Given the description of an element on the screen output the (x, y) to click on. 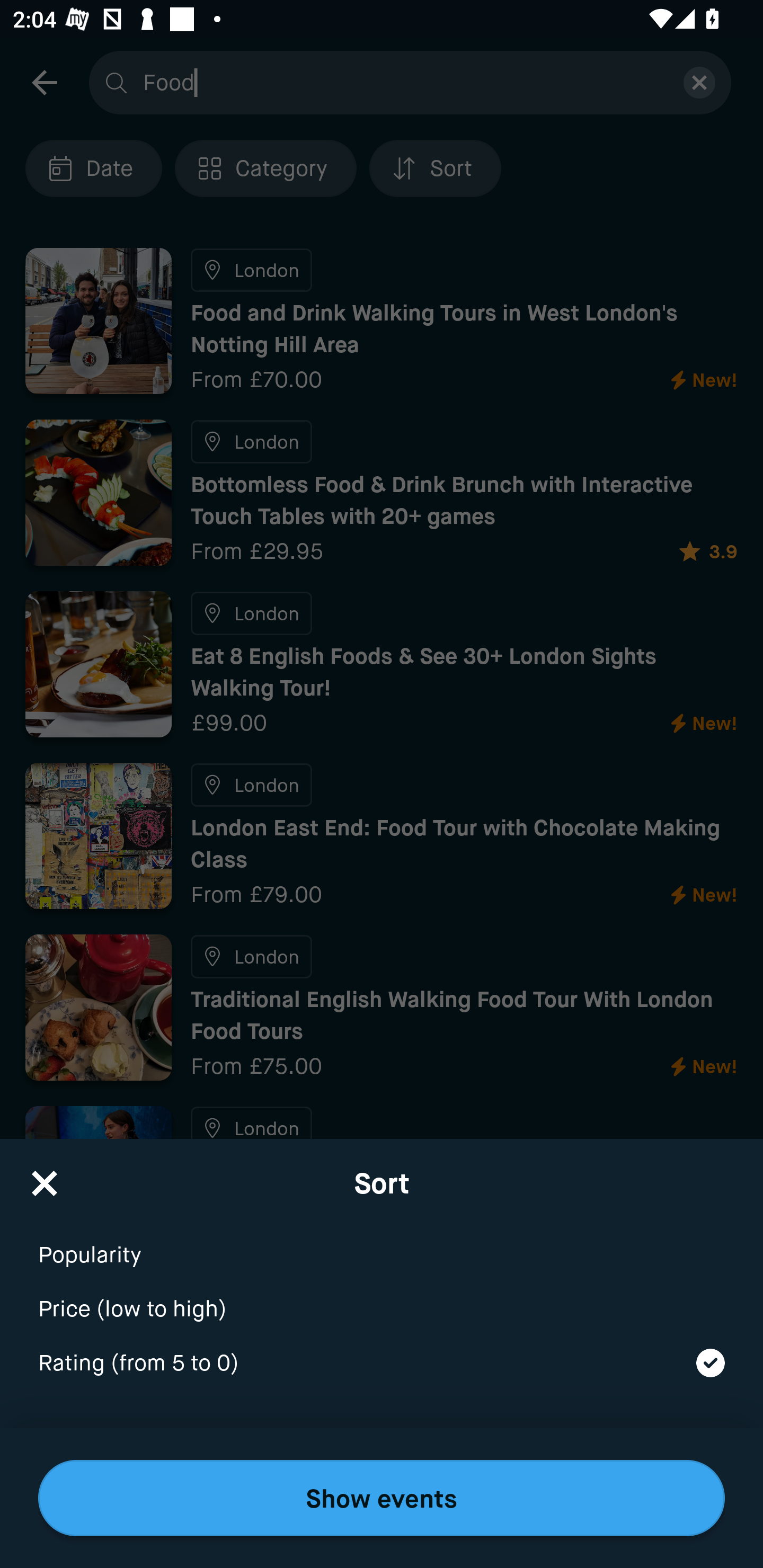
CloseButton (44, 1177)
Popularity (381, 1243)
Price (low to high) (381, 1297)
Rating (from 5 to 0) Selected Icon (381, 1362)
Show events (381, 1497)
